Given the description of an element on the screen output the (x, y) to click on. 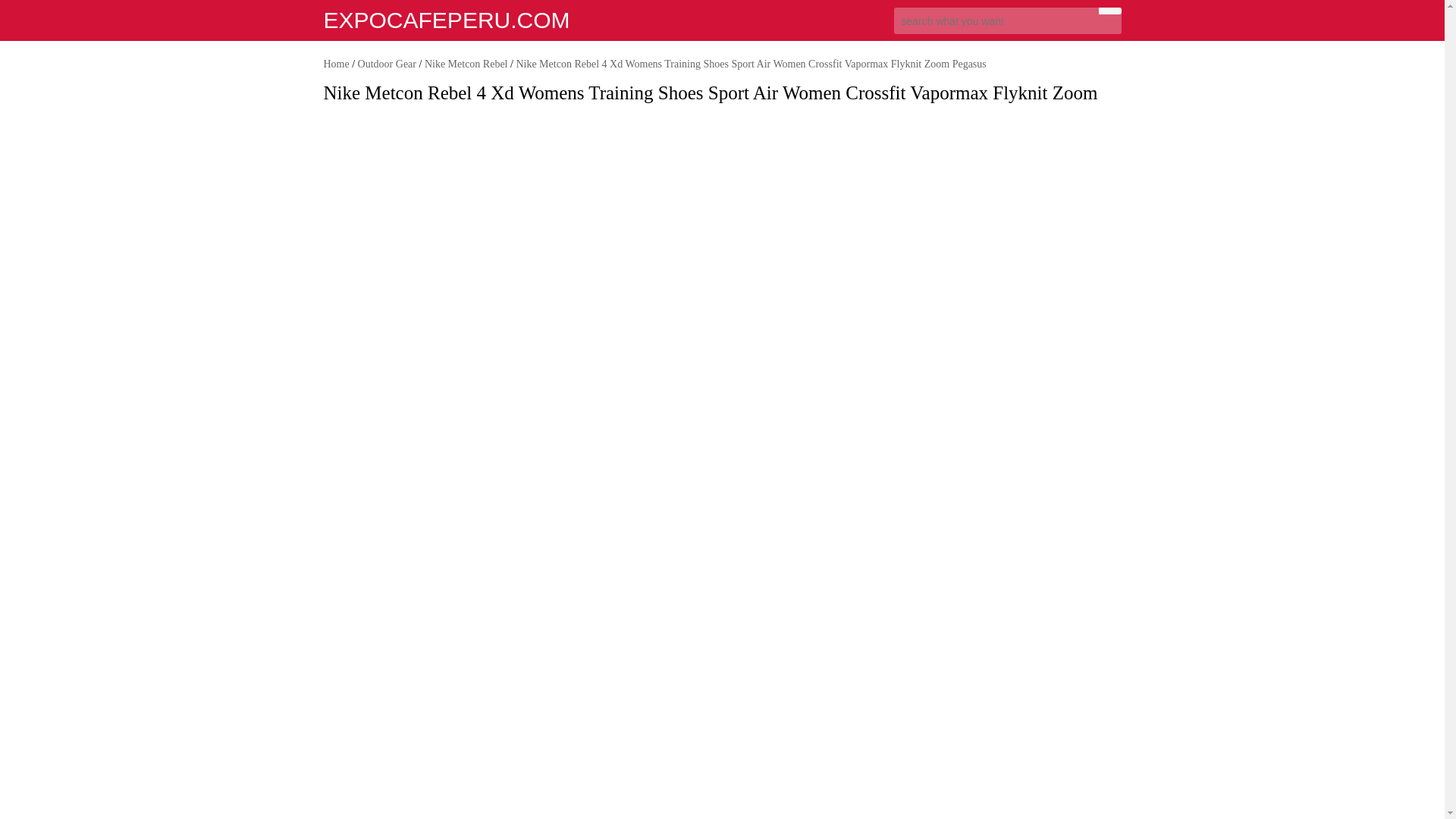
Outdoor Gear (387, 63)
Nike Metcon Rebel (466, 63)
EXPOCAFEPERU.COM (446, 20)
Home (336, 63)
